Given the description of an element on the screen output the (x, y) to click on. 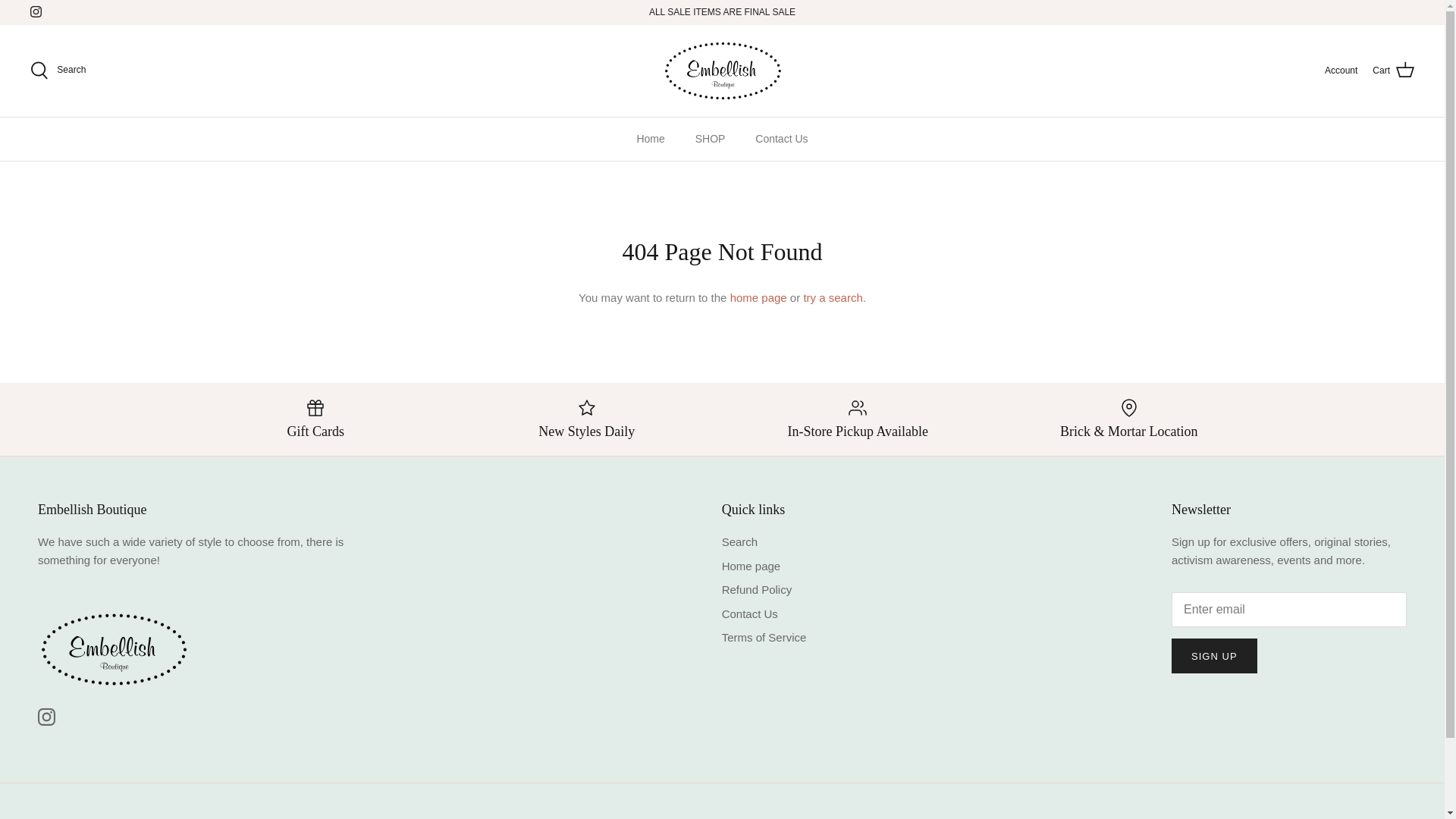
Instagram (36, 11)
Contact Us (781, 138)
Search (57, 70)
Embellish Boutique Owensboro (722, 70)
Instagram (46, 716)
Home (650, 138)
Account (1340, 70)
SHOP (710, 138)
Instagram (36, 11)
Cart (1393, 70)
